Given the description of an element on the screen output the (x, y) to click on. 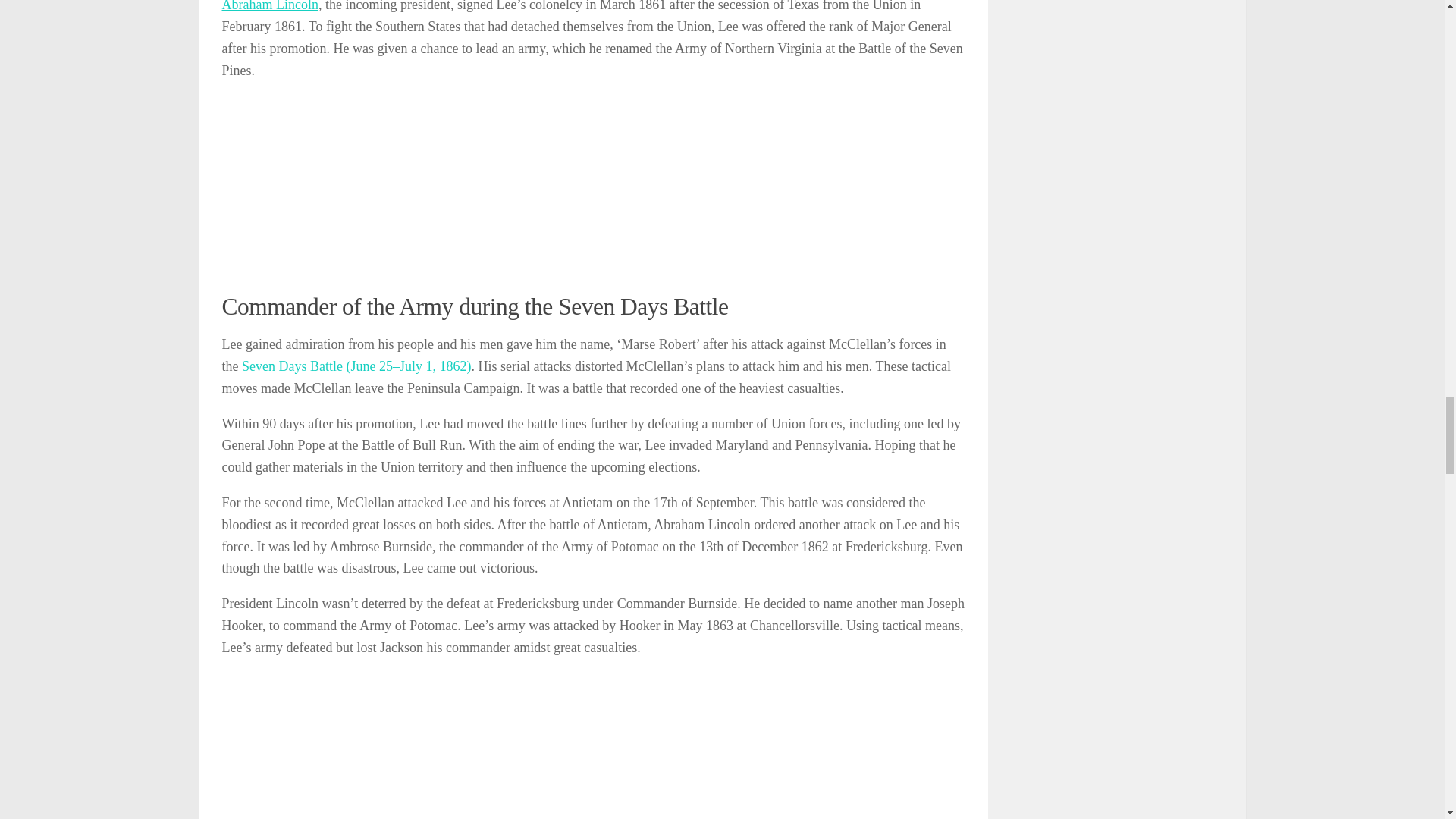
Abraham Lincoln (269, 6)
